Given the description of an element on the screen output the (x, y) to click on. 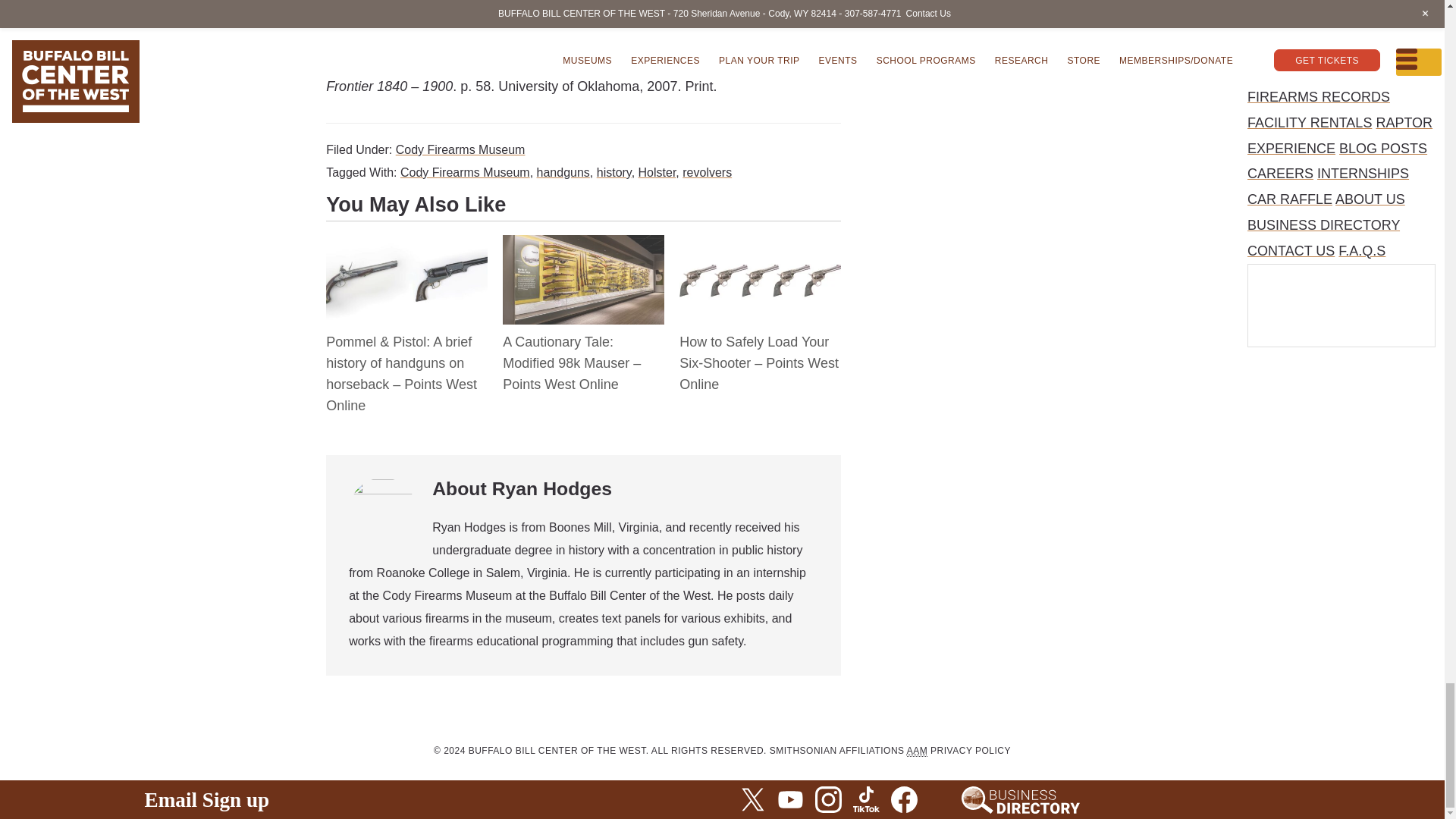
The American Alliance of Museums (917, 750)
